Given the description of an element on the screen output the (x, y) to click on. 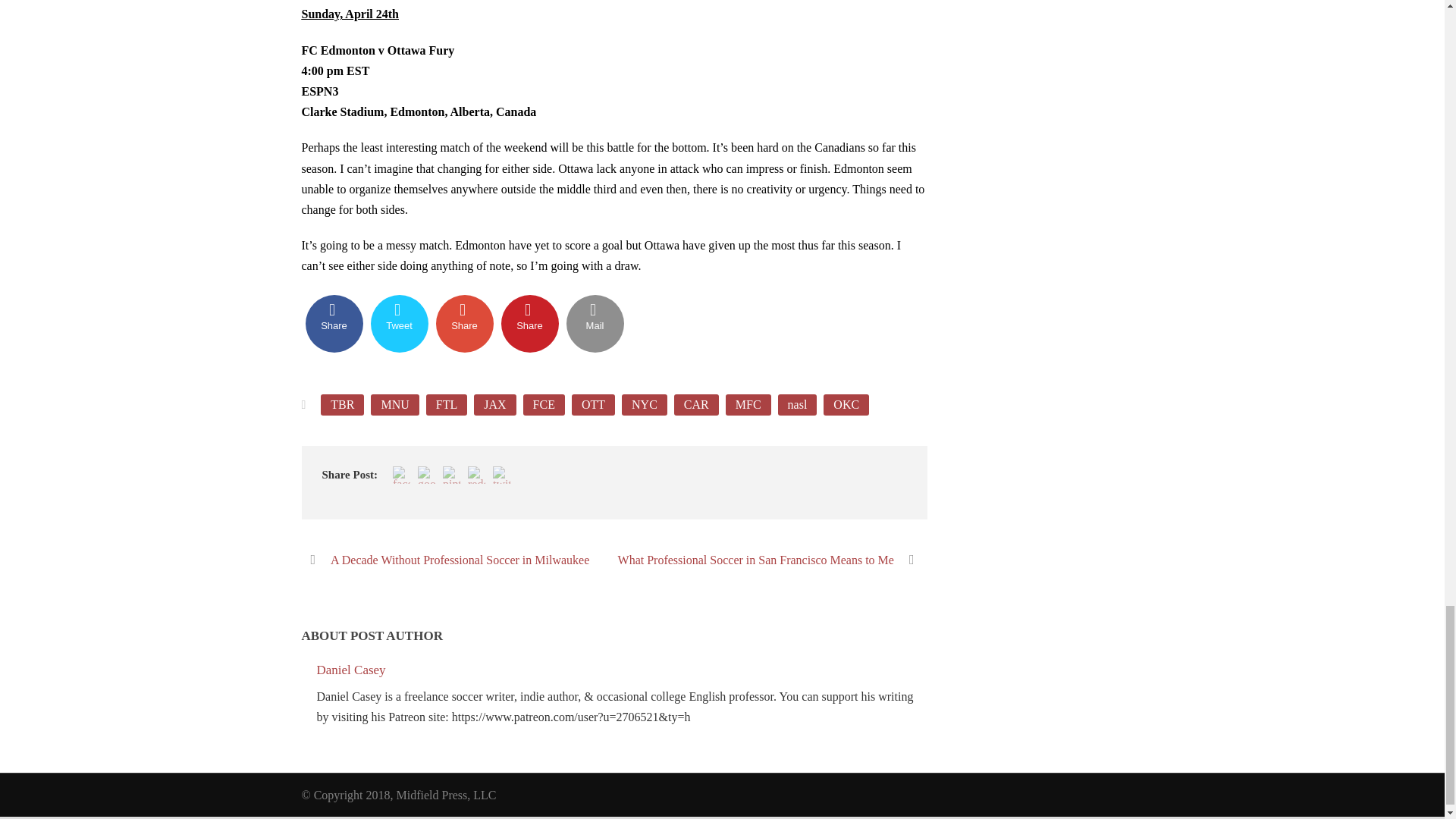
Posts by Daniel Casey (351, 669)
Share on Facebook (333, 323)
Share on Pinterest (528, 323)
Share on Twitter (398, 323)
Share on Google Plus (464, 323)
Share it on Email (594, 323)
